Given the description of an element on the screen output the (x, y) to click on. 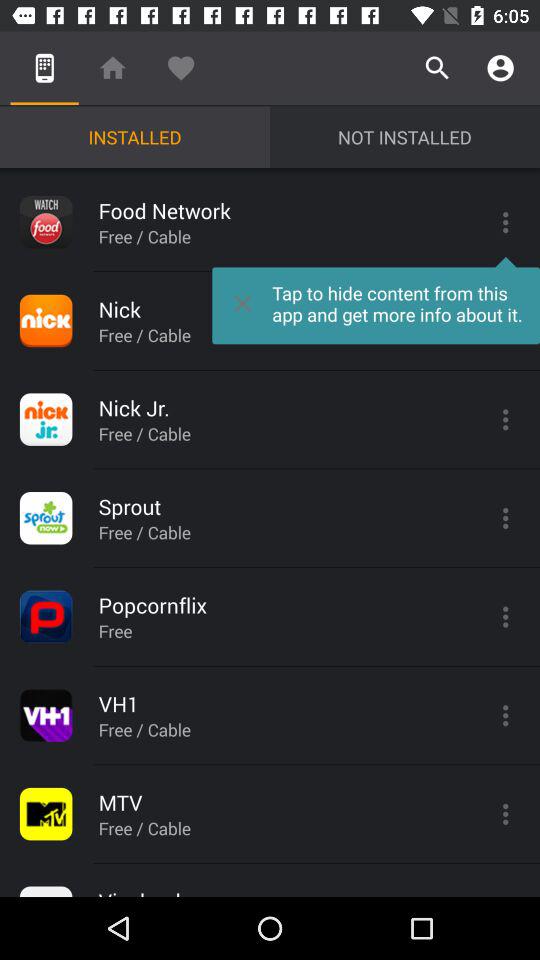
open the icon above installed (180, 68)
